Given the description of an element on the screen output the (x, y) to click on. 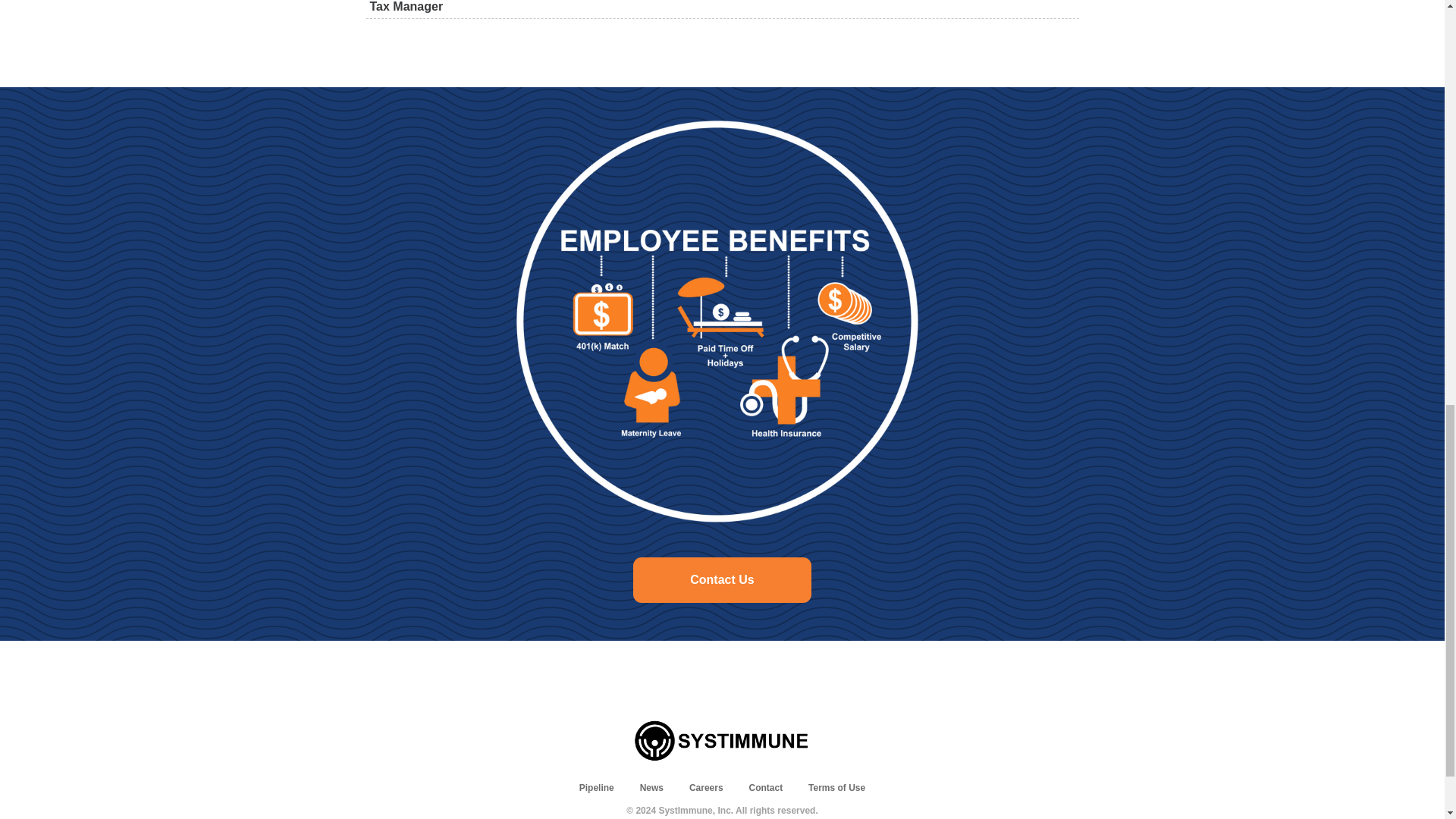
Contact Us (721, 579)
News (651, 787)
Careers (705, 787)
Terms of Use (836, 787)
Pipeline (596, 787)
Tax Manager (721, 9)
Contact (766, 787)
